Given the description of an element on the screen output the (x, y) to click on. 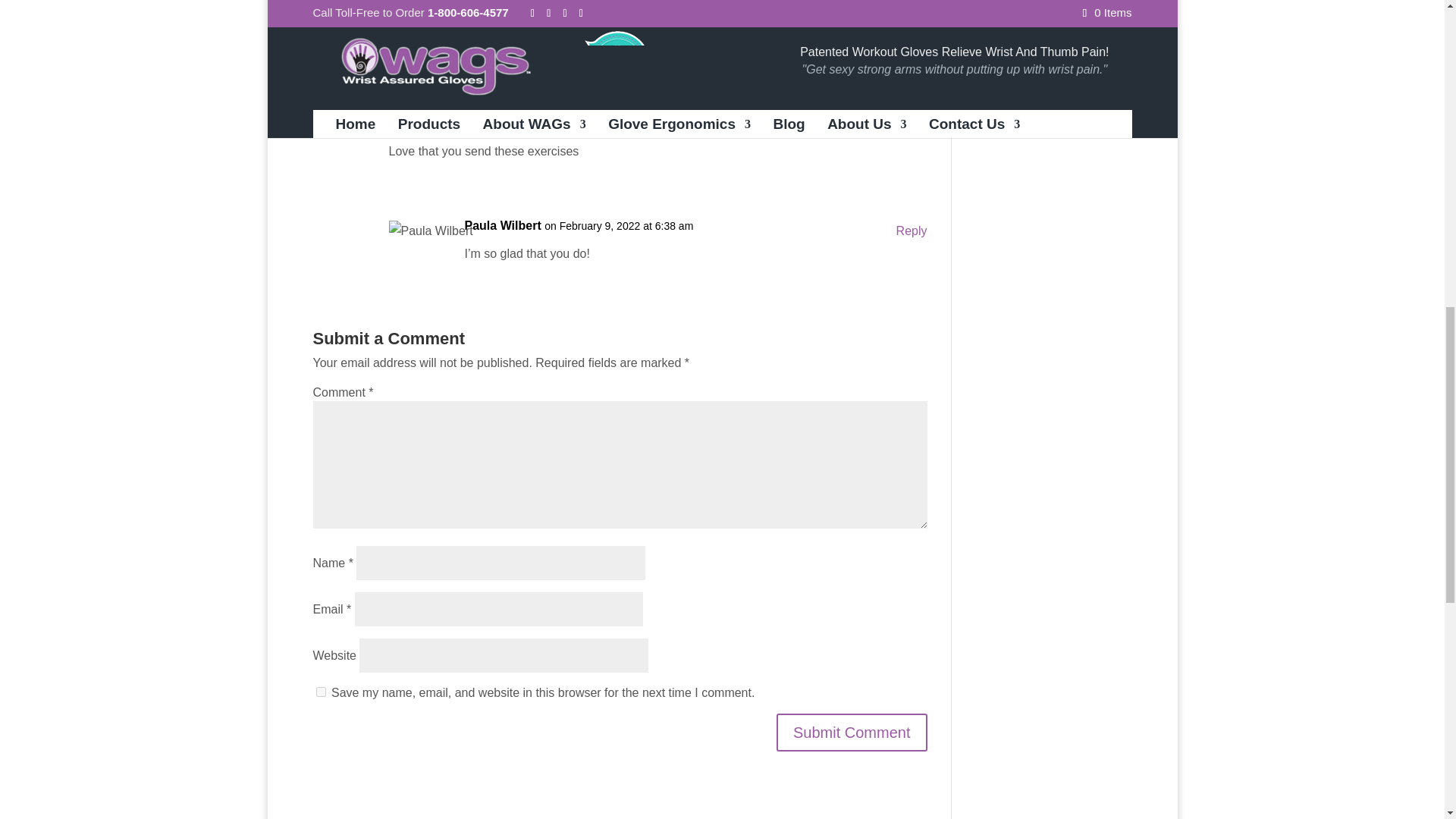
Submit Comment (851, 732)
Reply (911, 230)
Submit Comment (851, 732)
Reply (911, 127)
yes (319, 691)
